Given the description of an element on the screen output the (x, y) to click on. 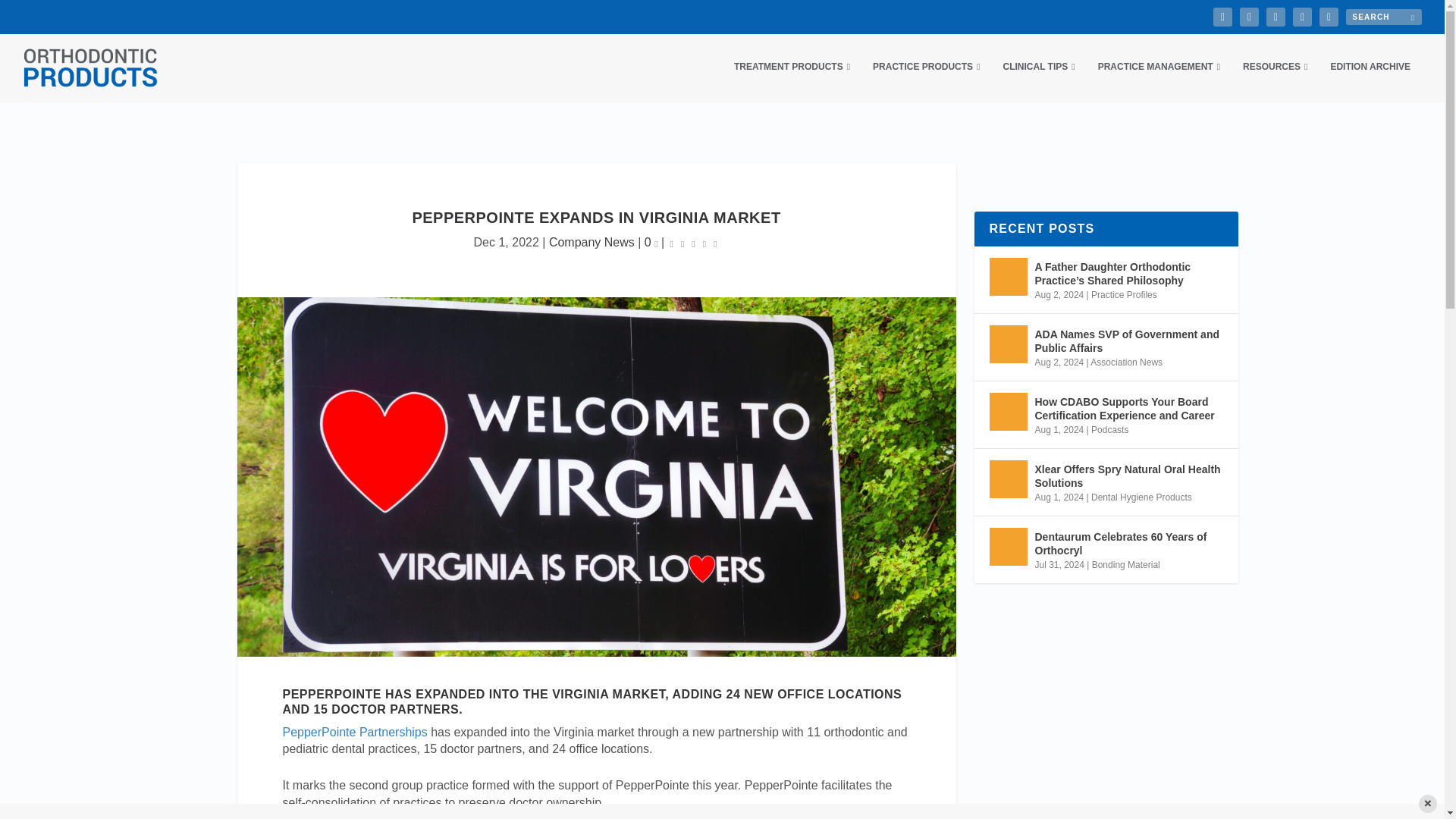
PRACTICE MANAGEMENT (1158, 81)
PRACTICE PRODUCTS (925, 81)
Rating: 0.00 (693, 242)
Xlear Offers Spry Natural Oral Health Solutions (1007, 478)
TREATMENT PRODUCTS (791, 81)
Search for: (1383, 17)
CLINICAL TIPS (1038, 81)
RESOURCES (1275, 81)
ADA Names SVP of Government and Public Affairs (1007, 344)
